Given the description of an element on the screen output the (x, y) to click on. 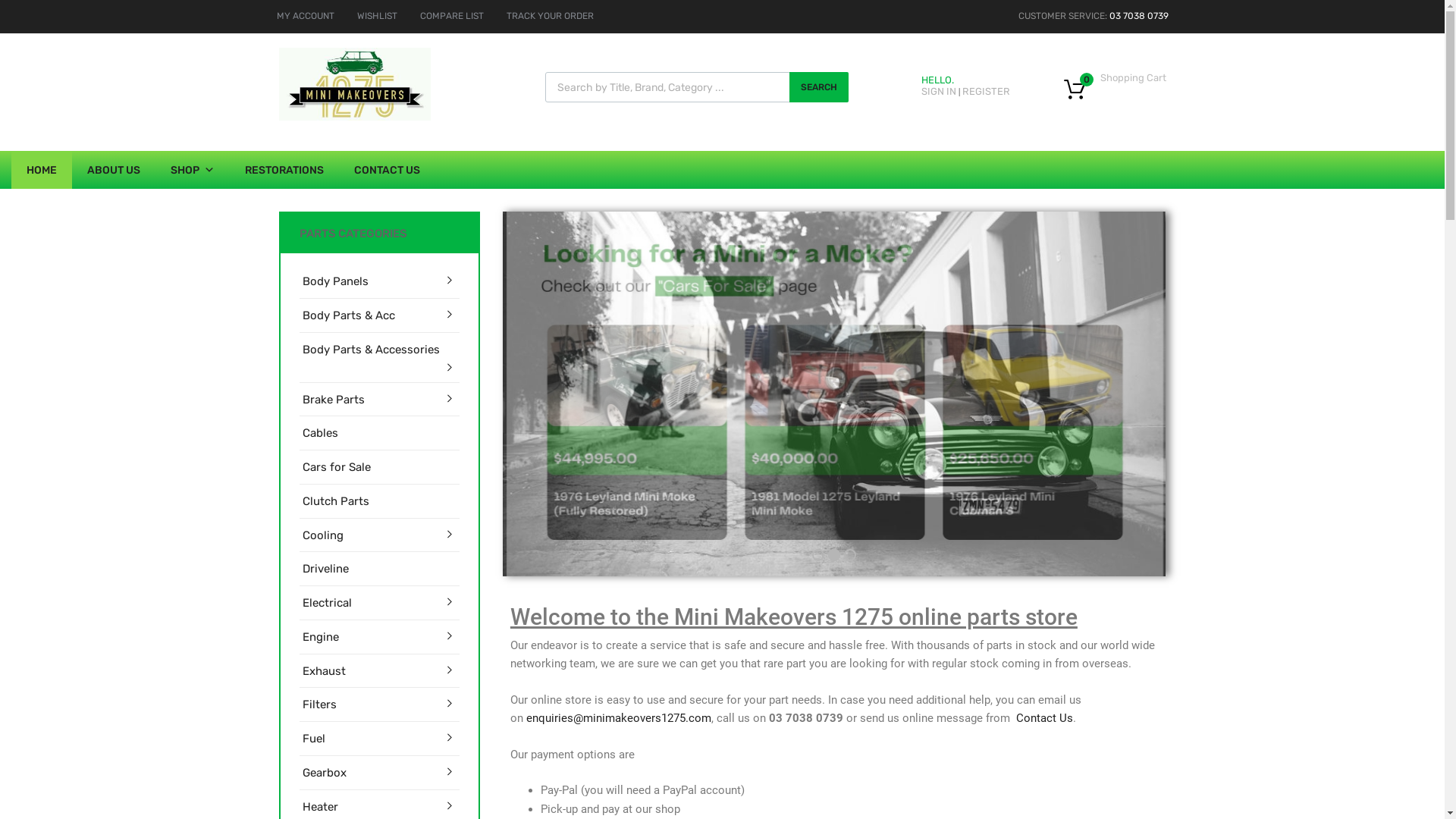
HOME Element type: text (41, 169)
MY ACCOUNT Element type: text (304, 15)
SEARCH Element type: text (817, 87)
Cooling Element type: text (321, 535)
Cars for Sale Element type: text (335, 467)
Register Element type: text (795, 469)
Brake Parts Element type: text (332, 399)
Fuel Element type: text (312, 738)
Electrical Element type: text (326, 602)
Mini Makeovers Element type: hover (354, 116)
RESTORATIONS Element type: text (283, 169)
Body Parts & Accessories Element type: text (370, 349)
CONTACT US Element type: text (386, 169)
SIGN IN Element type: text (937, 91)
COMPARE LIST Element type: text (451, 15)
Driveline Element type: text (324, 568)
Engine Element type: text (319, 636)
Exhaust Element type: text (323, 671)
WISHLIST Element type: text (376, 15)
Heater Element type: text (319, 806)
enquiries@minimakeovers1275.com Element type: text (618, 717)
Gearbox Element type: text (323, 772)
Clutch Parts Element type: text (334, 501)
TRACK YOUR ORDER Element type: text (549, 15)
Body Parts & Acc Element type: text (347, 315)
ABOUT US Element type: text (629, 516)
Contact Us Element type: text (1044, 717)
Body Panels Element type: text (334, 281)
Filters Element type: text (318, 704)
Login Element type: text (799, 432)
REGISTER Element type: text (985, 91)
SHOP Element type: text (192, 169)
03 7038 0739 Element type: text (1137, 15)
Cables Element type: text (319, 432)
ABOUT US Element type: text (113, 169)
